Given the description of an element on the screen output the (x, y) to click on. 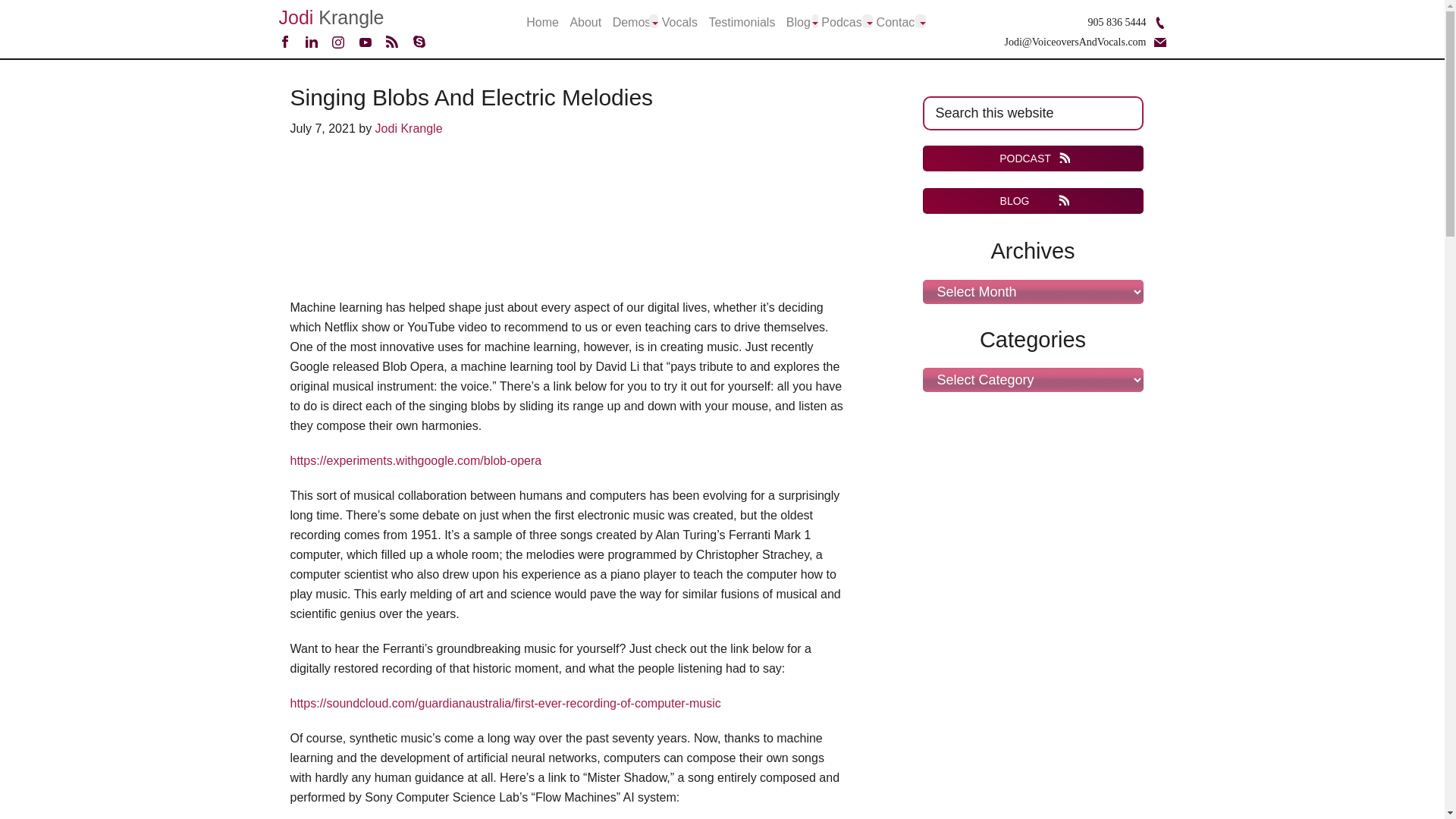
Search (1154, 104)
Blog (798, 22)
905 836 5444 (1116, 21)
Search (1154, 104)
Instagram (337, 43)
Demos (631, 22)
Testimonials (740, 22)
About (585, 22)
Home (542, 22)
Jodi Krangle (331, 16)
Vocals (679, 22)
